Given the description of an element on the screen output the (x, y) to click on. 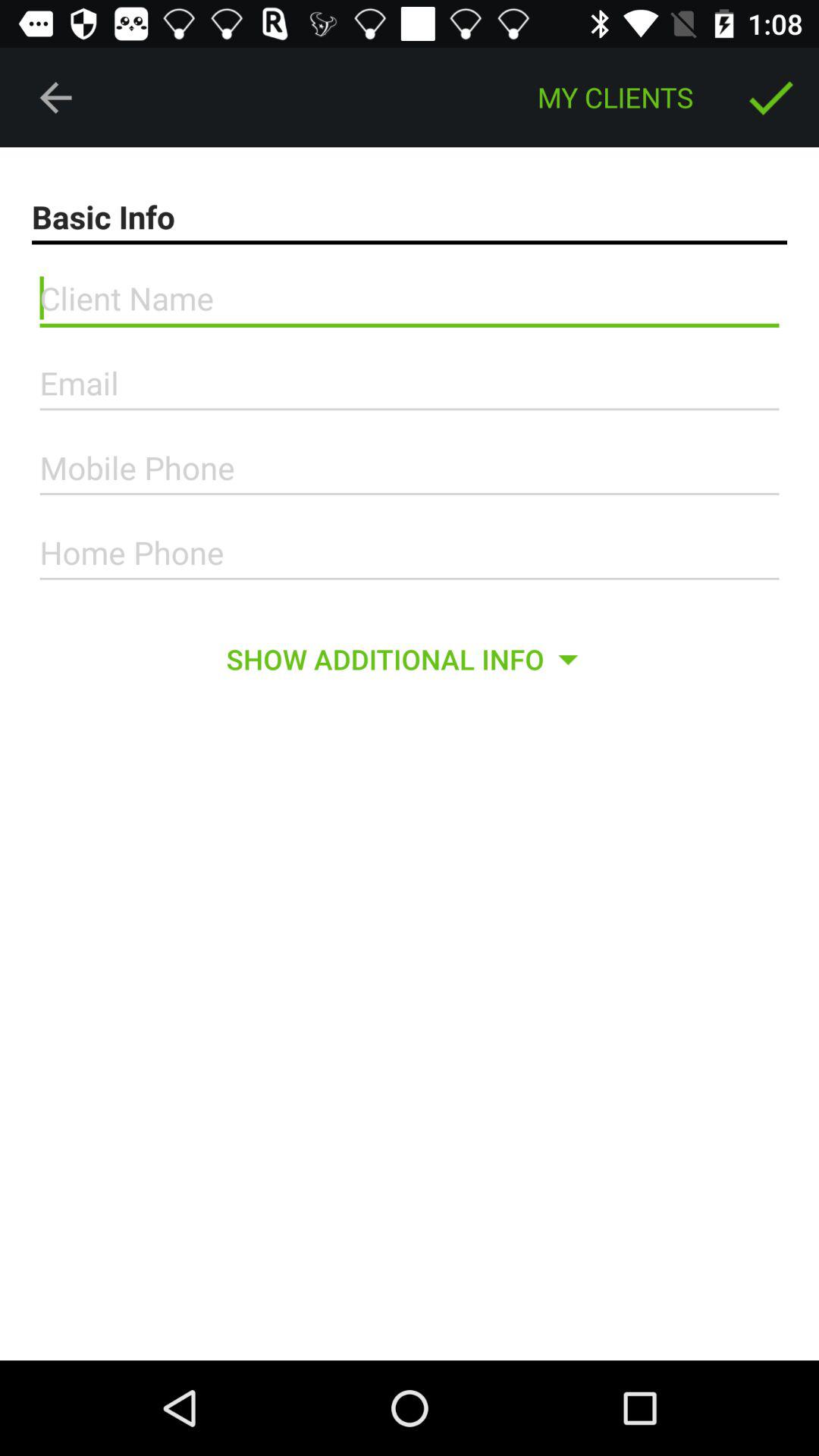
open the icon to the left of the my clients (55, 97)
